Given the description of an element on the screen output the (x, y) to click on. 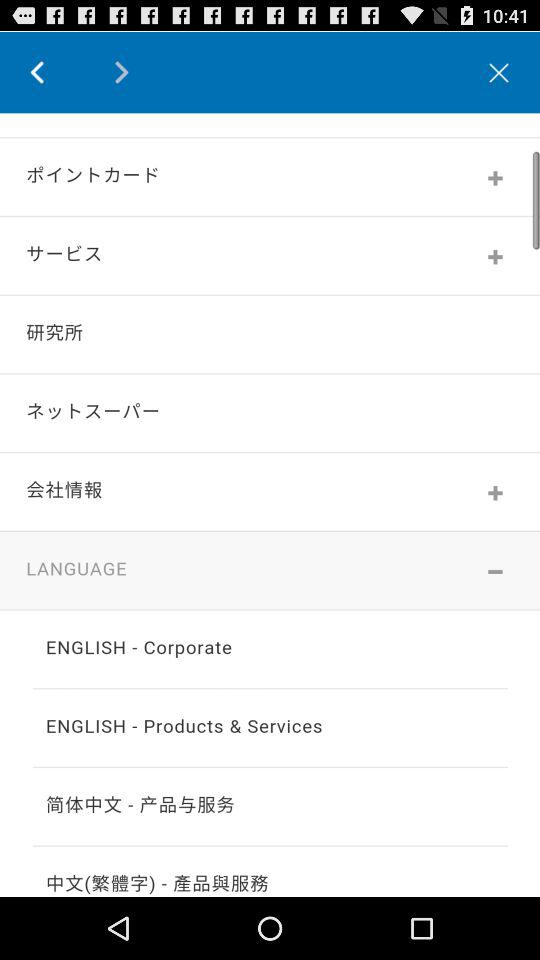
detail close mark (499, 71)
